Given the description of an element on the screen output the (x, y) to click on. 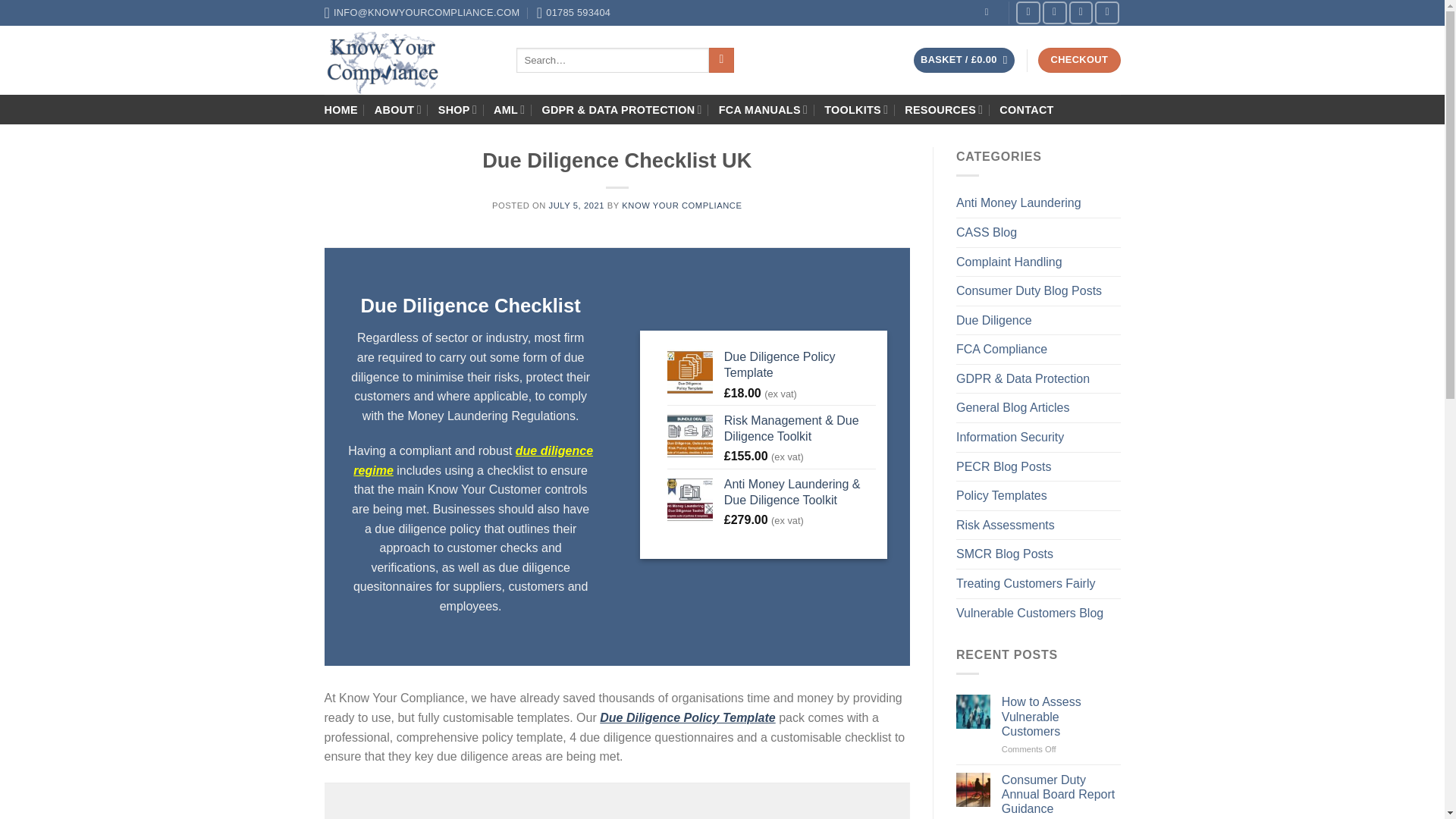
01785 593404 (573, 12)
CHECKOUT (1078, 59)
HOME (341, 109)
Know Your Compliance Limited - Regulatory policy templates (408, 60)
Subscribe to RSS (1080, 12)
Send us an email (1054, 12)
01785 593404 (573, 12)
Follow on LinkedIn (1106, 12)
Due Diligence Policy Template (799, 365)
Basket (964, 59)
